Given the description of an element on the screen output the (x, y) to click on. 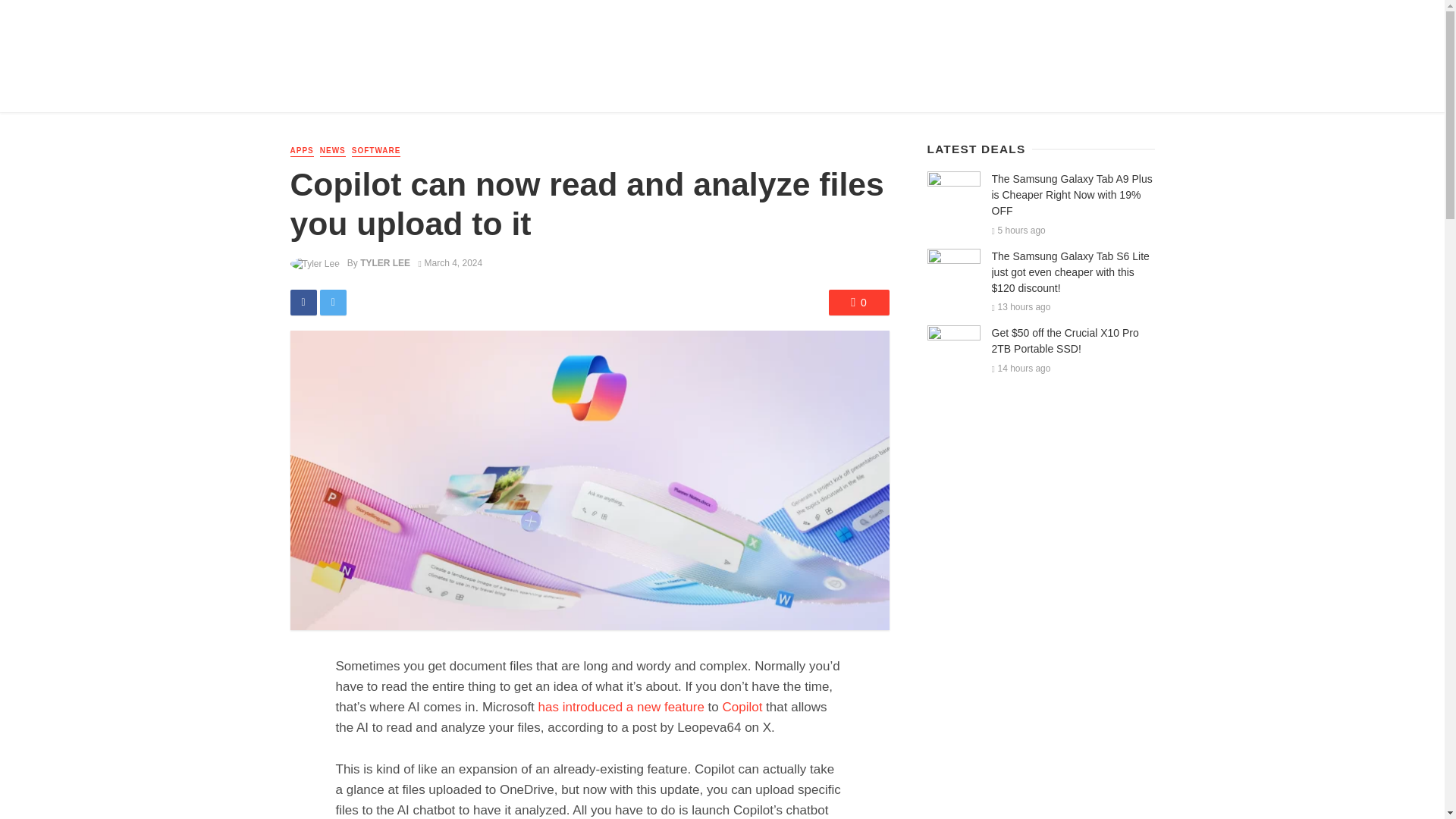
0 Comments (858, 302)
SOFTWARE (376, 151)
TYLER LEE (384, 262)
HOW TO (504, 89)
Posts by Tyler Lee (384, 262)
Share on Facebook (302, 302)
NEWS (333, 151)
0 (858, 302)
OPINION (560, 89)
Copilot (741, 707)
March 4, 2024 at 4:36 am (451, 262)
NEWS (345, 89)
DEALS (452, 89)
MORE (612, 89)
REVIEWS (398, 89)
